Given the description of an element on the screen output the (x, y) to click on. 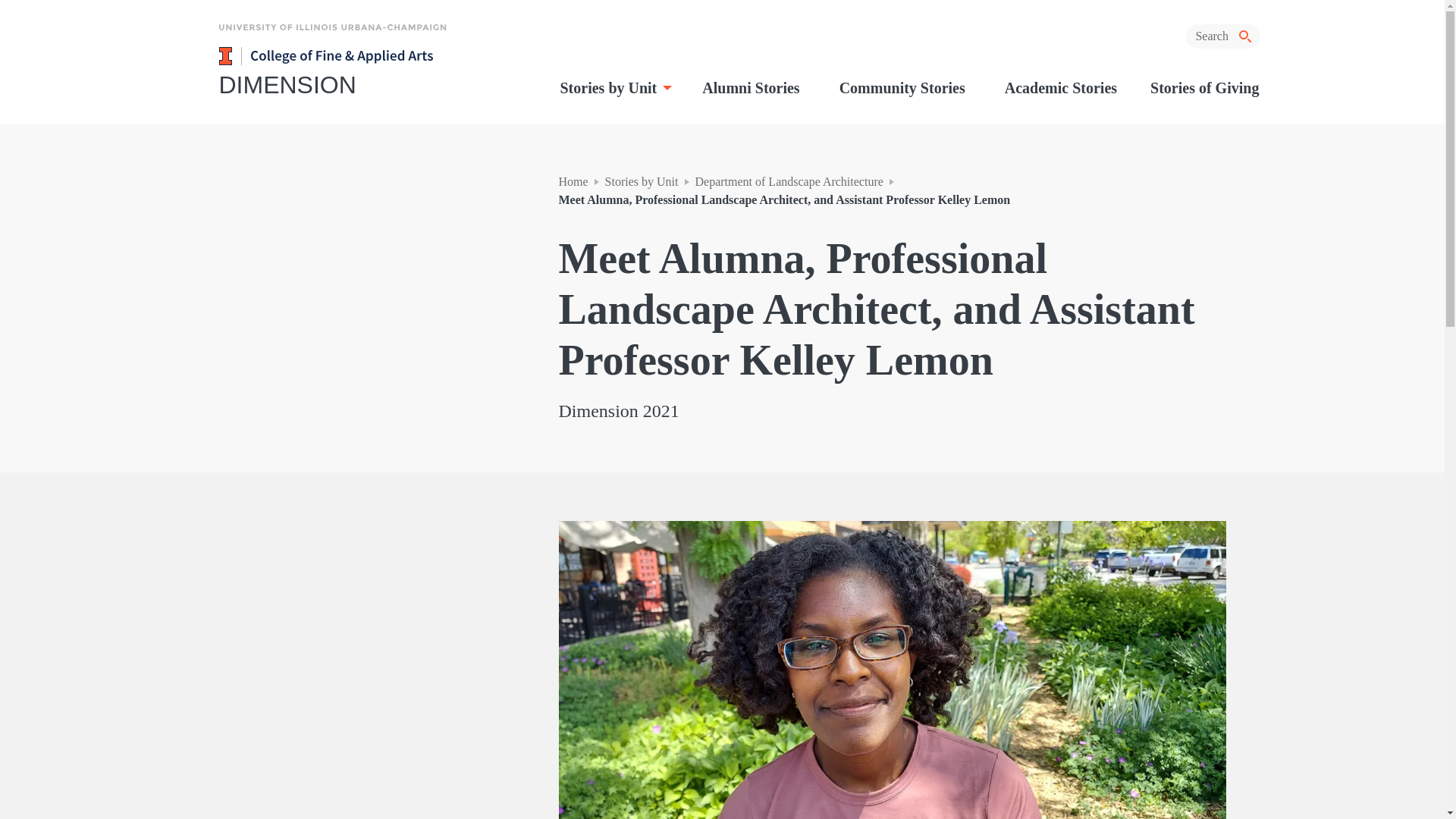
Stories of Giving (1204, 87)
Home (572, 182)
Alumni Stories (750, 87)
Academic Stories (1061, 87)
Stories by Unit (614, 87)
Community Stories (901, 87)
DIMENSION (369, 84)
